Given the description of an element on the screen output the (x, y) to click on. 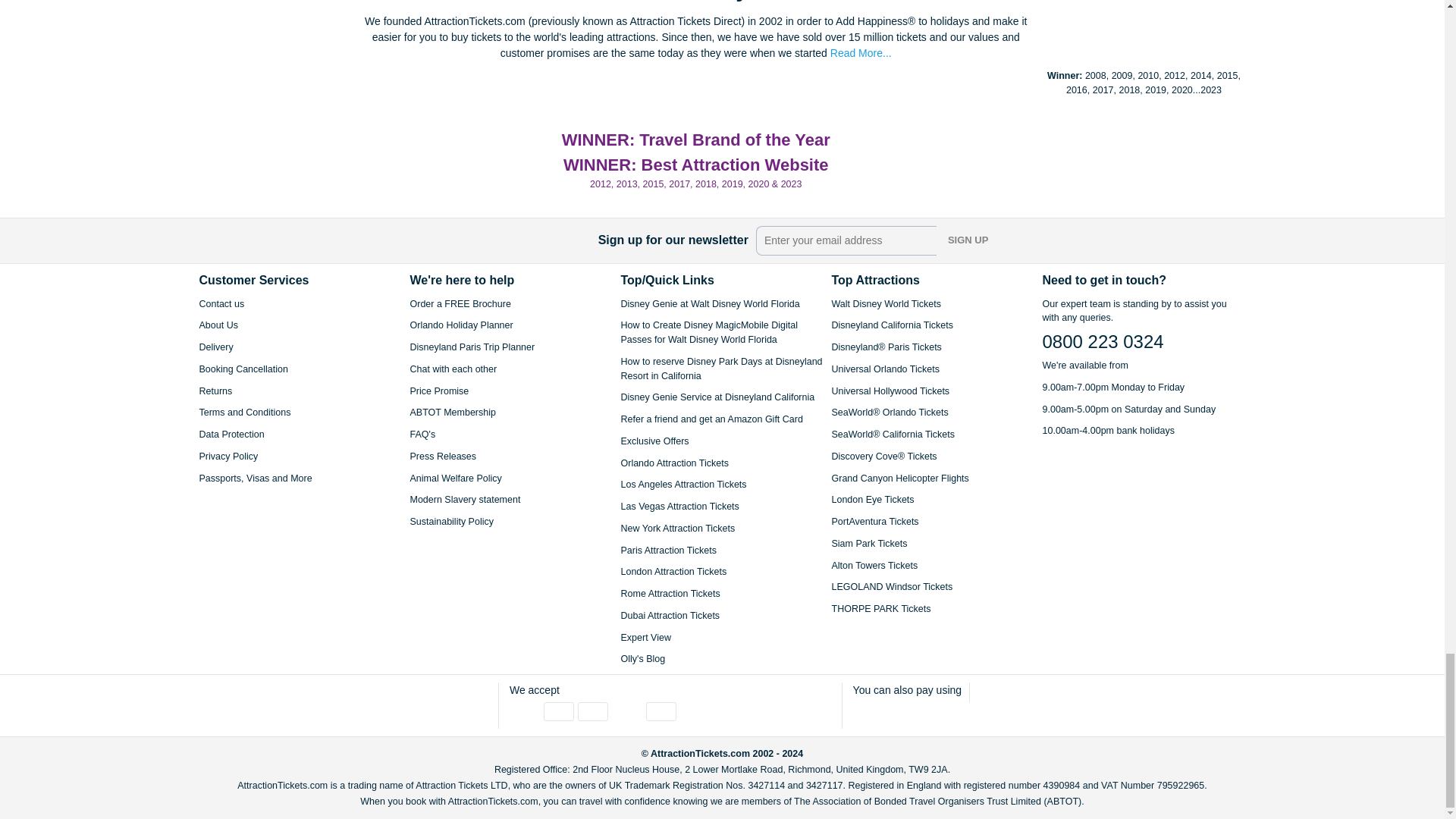
SIGN UP (967, 240)
